Given the description of an element on the screen output the (x, y) to click on. 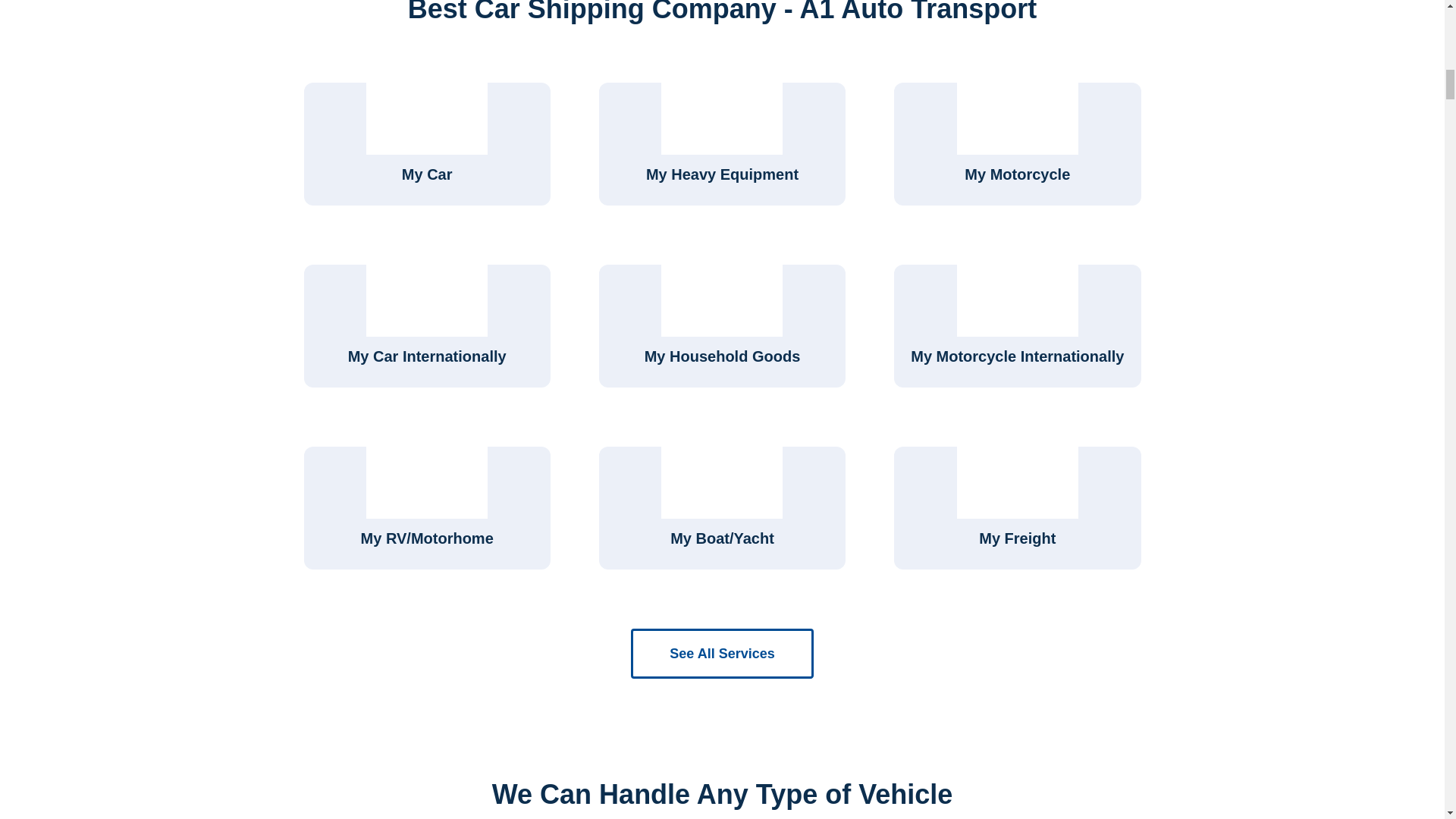
My Motorcycle (1016, 143)
My Freight (1016, 507)
My Heavy Equipment (721, 143)
My Motorcycle Internationally (1016, 325)
My Car (426, 143)
See All Services (721, 653)
See All Services (721, 653)
My Car Internationally (426, 325)
